Given the description of an element on the screen output the (x, y) to click on. 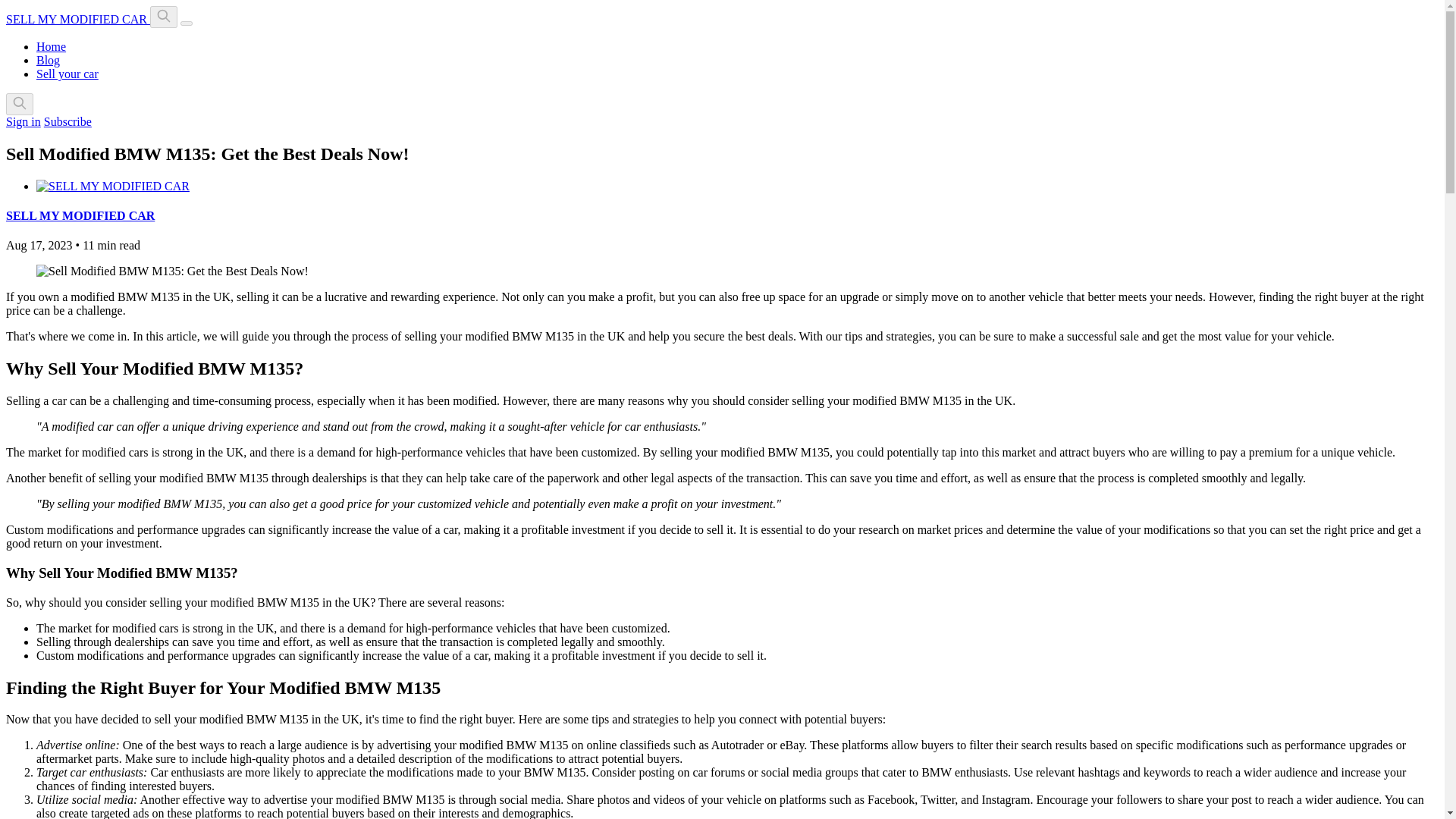
SELL MY MODIFIED CAR (77, 19)
Sign in (22, 121)
Home (50, 46)
Blog (47, 60)
Subscribe (67, 121)
SELL MY MODIFIED CAR (79, 215)
Sell your car (67, 73)
